Given the description of an element on the screen output the (x, y) to click on. 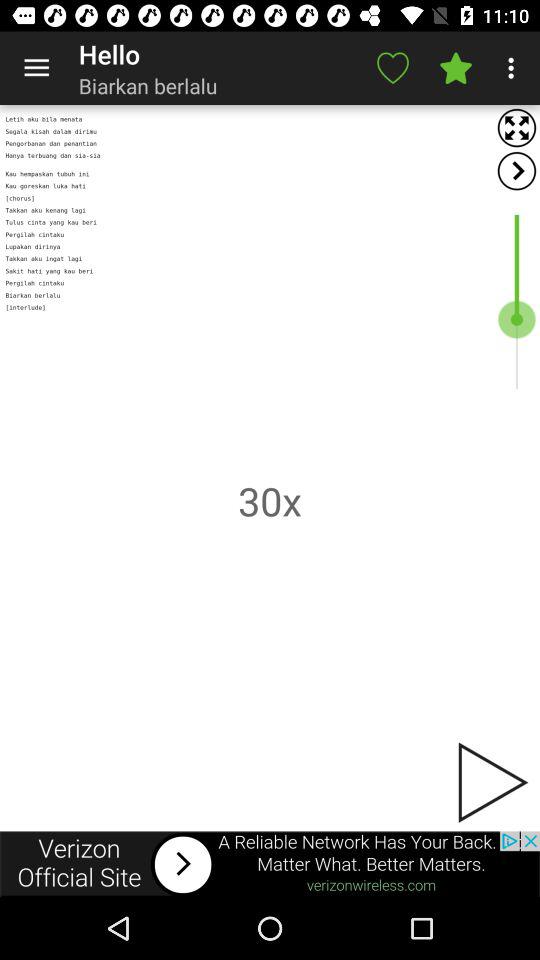
full screen (516, 127)
